Given the description of an element on the screen output the (x, y) to click on. 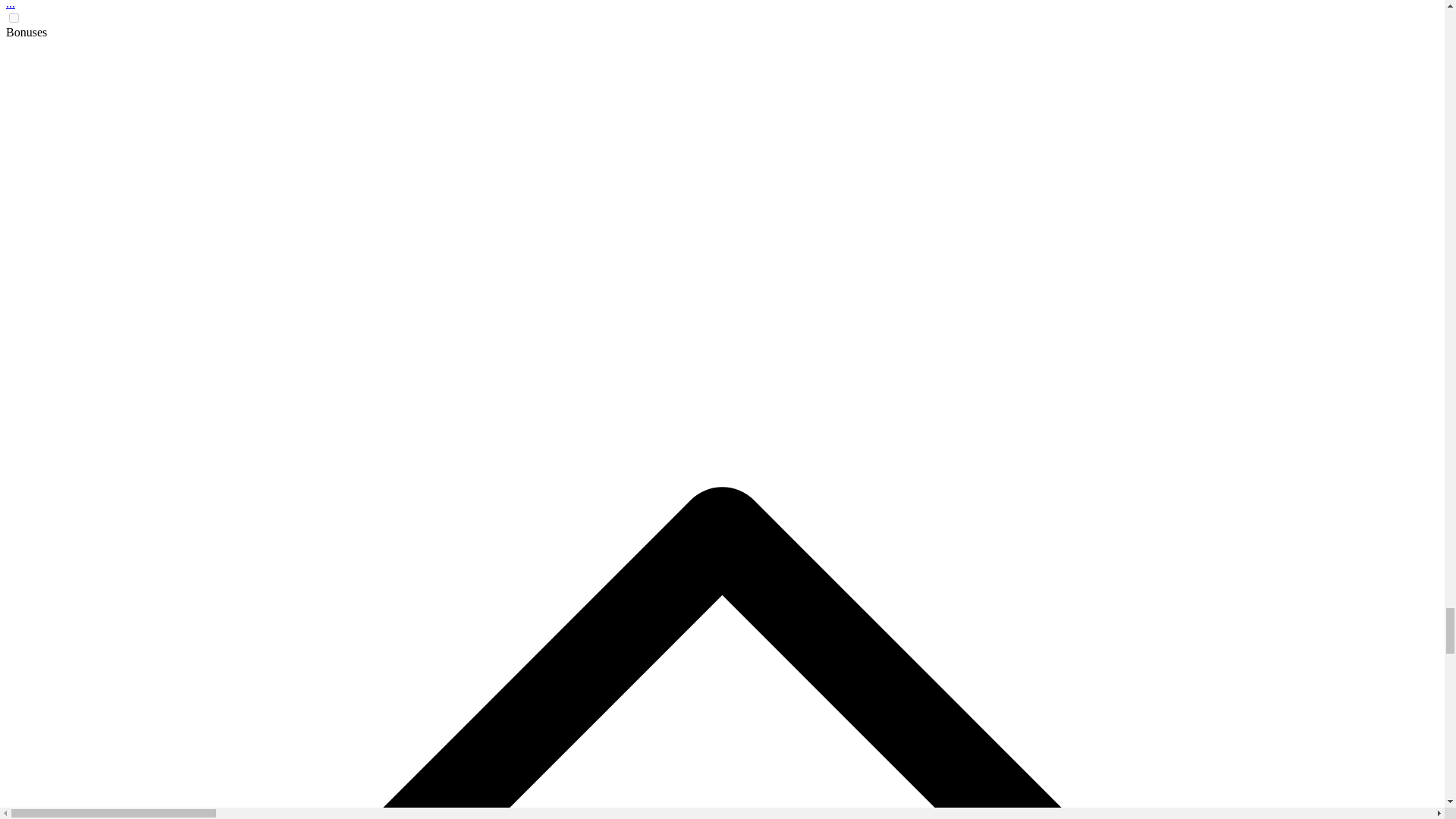
on (13, 17)
